Given the description of an element on the screen output the (x, y) to click on. 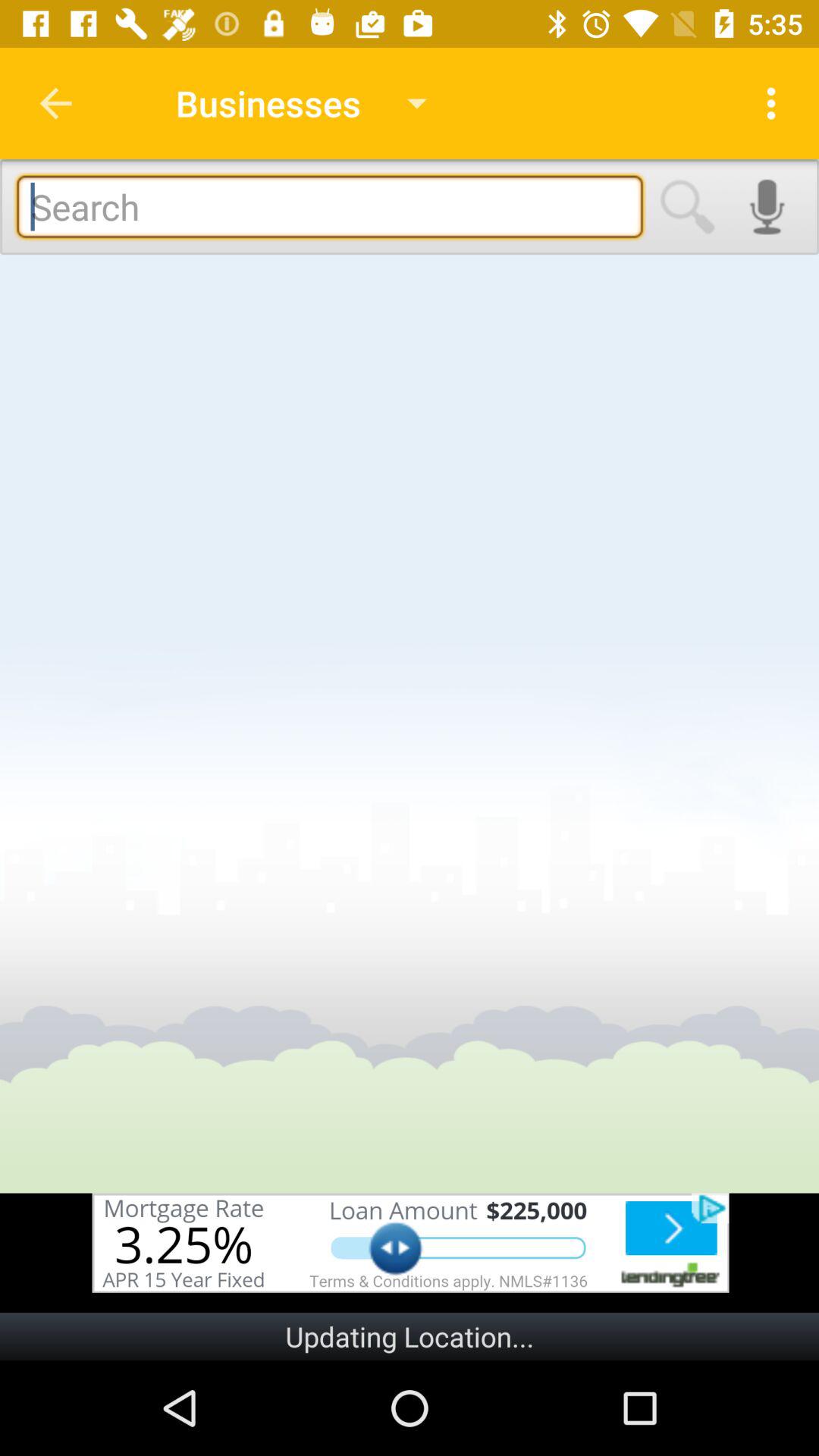
speaker (767, 206)
